Given the description of an element on the screen output the (x, y) to click on. 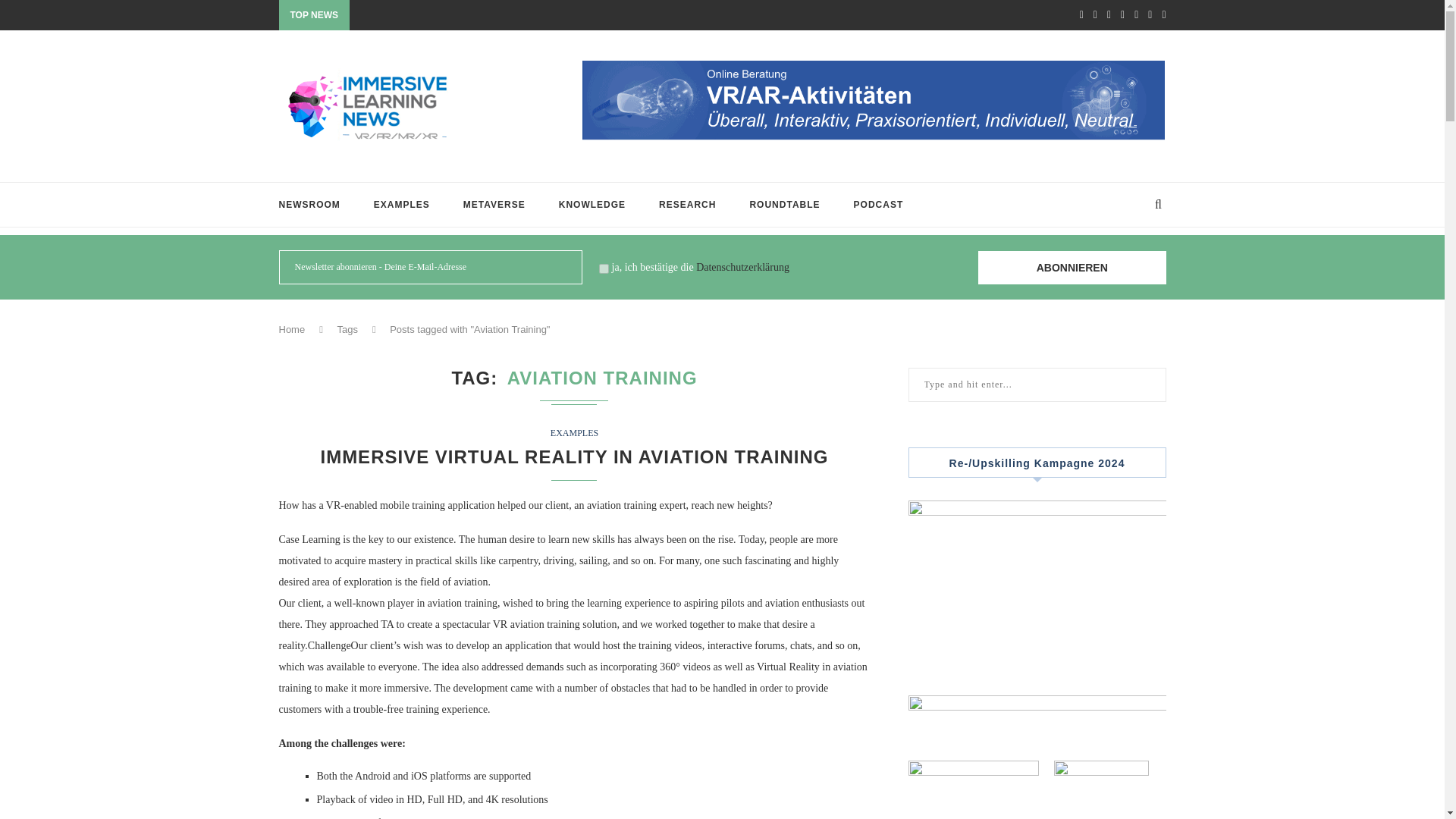
1 (603, 268)
Abonnieren (1072, 267)
